Given the description of an element on the screen output the (x, y) to click on. 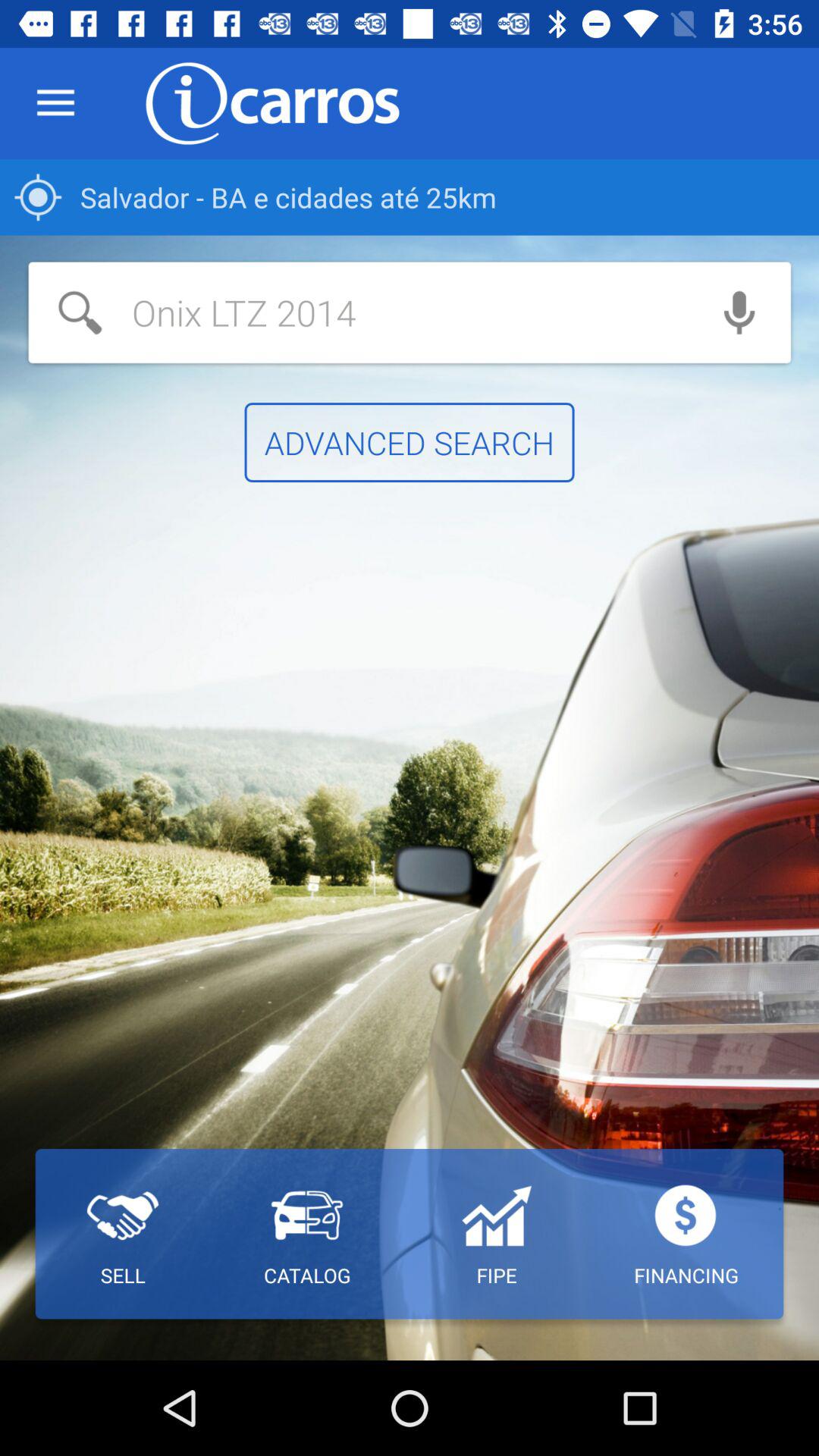
open the item next to the catalog icon (122, 1233)
